Given the description of an element on the screen output the (x, y) to click on. 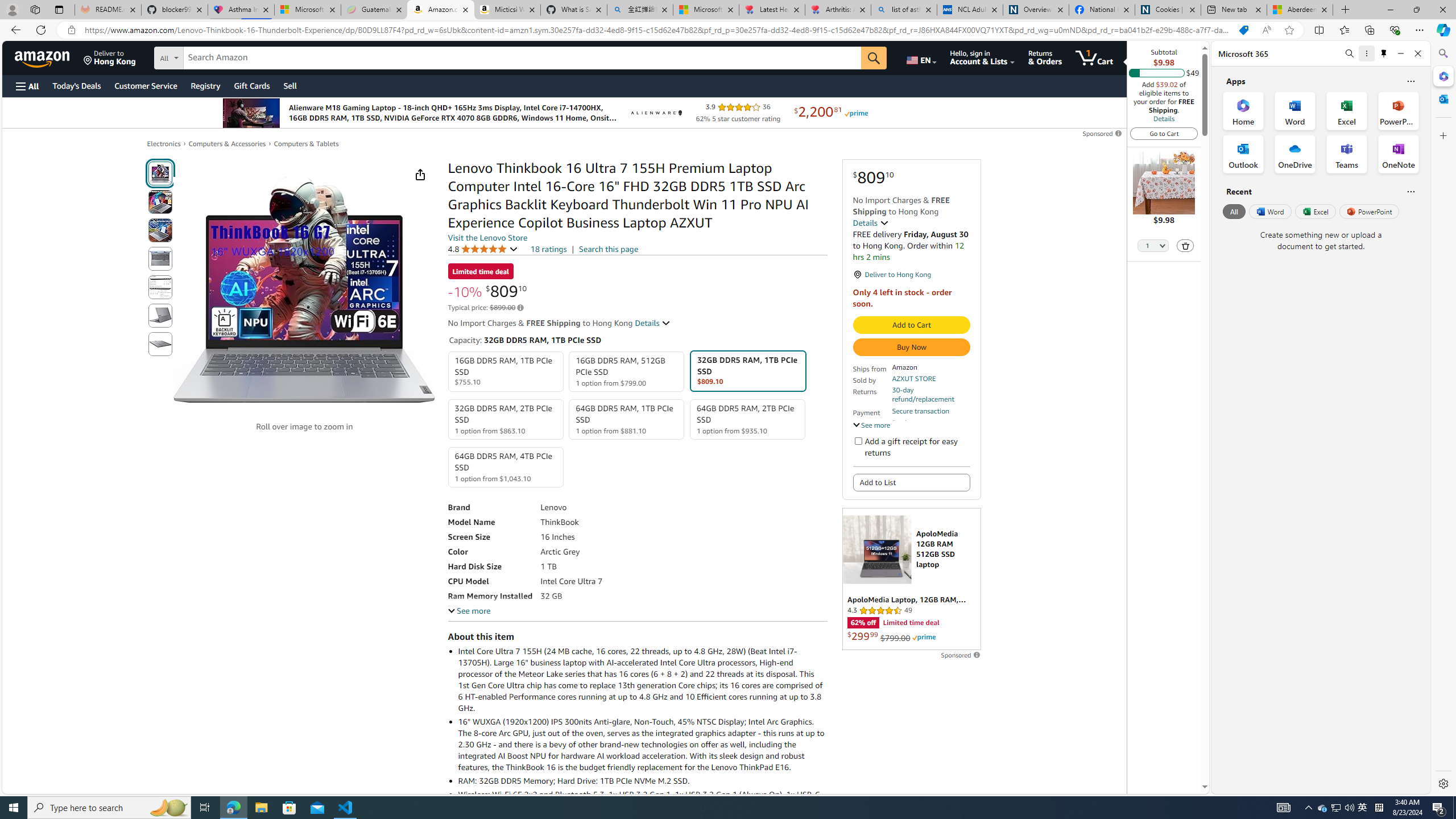
Excel Office App (1346, 110)
Electronics (163, 143)
Computers & Accessories (226, 143)
All (1233, 210)
Learn more about Amazon pricing and savings (520, 307)
RAM: 32GB DDR5 Memory; Hard Drive: 1TB PCIe NVMe M.2 SSD. (642, 780)
Computers & Accessories (226, 144)
Teams Office App (1346, 154)
Add a gift receipt for easy returns (857, 440)
